Given the description of an element on the screen output the (x, y) to click on. 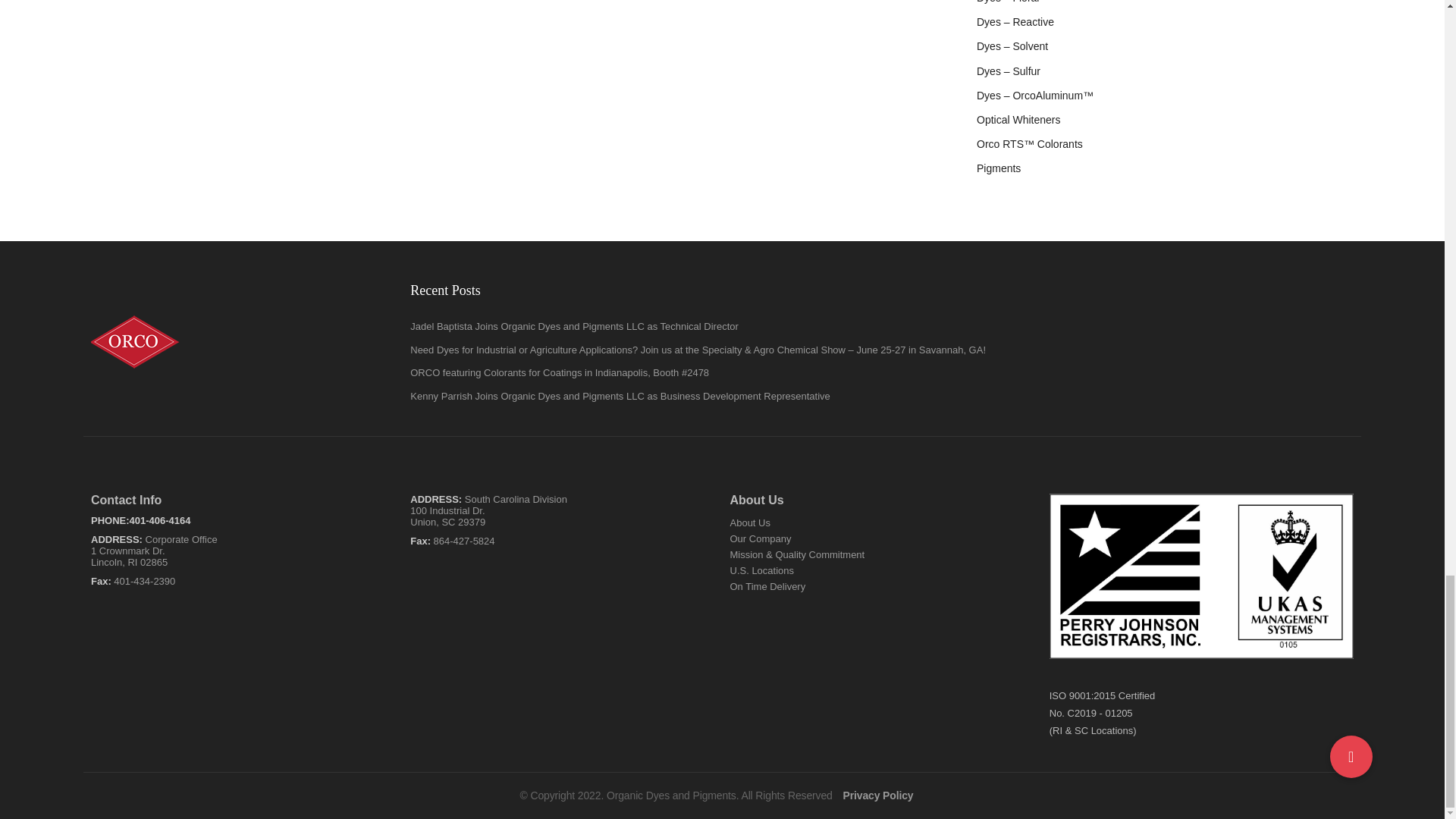
2 UKAS and PJR (1201, 576)
